Given the description of an element on the screen output the (x, y) to click on. 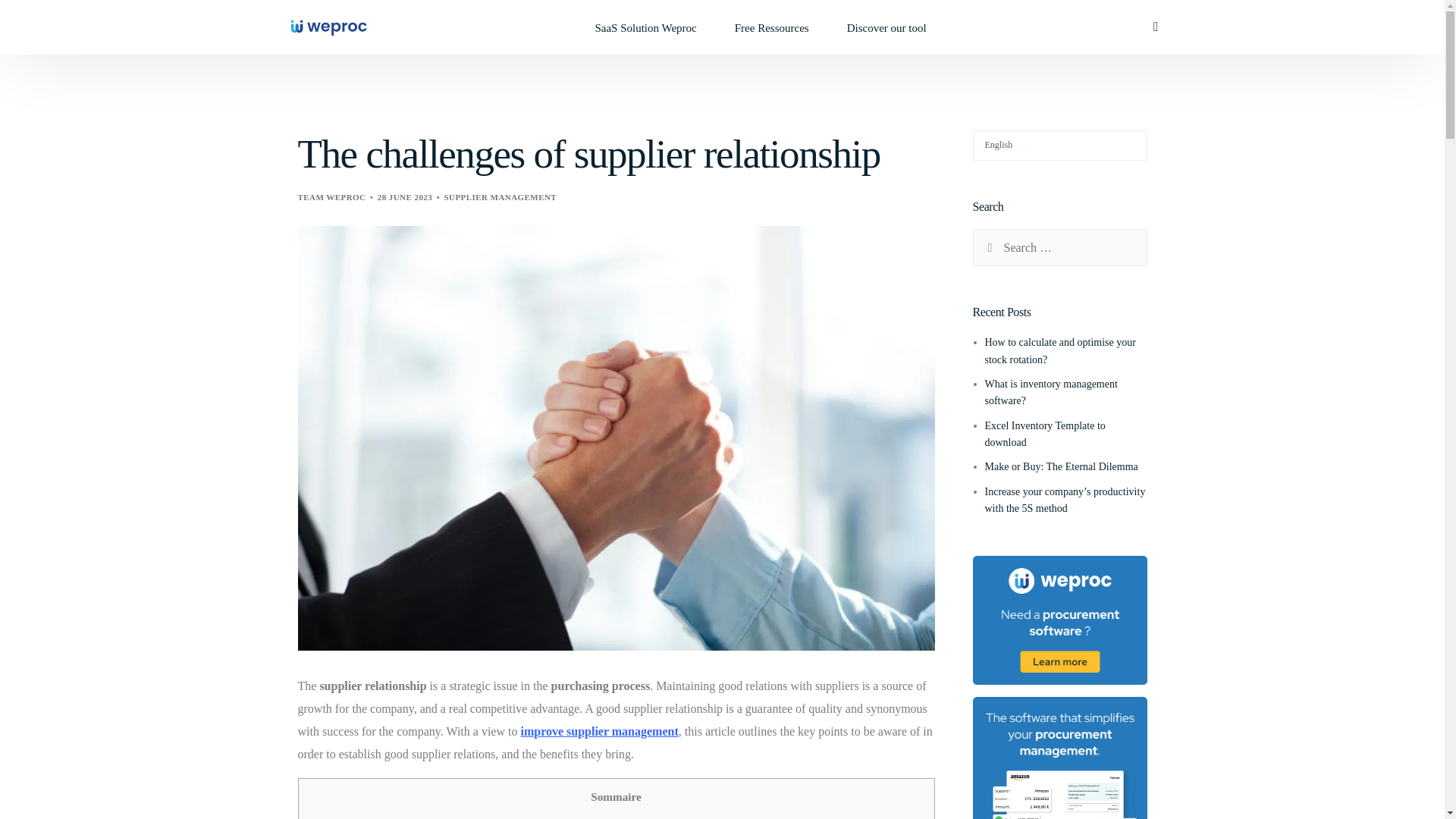
What is inventory management software? (1050, 392)
TEAM WEPROC (331, 196)
Discover our tool (886, 27)
How to calculate and optimise your stock rotation? (1059, 350)
Posts by Team Weproc (331, 196)
improve supplier management (598, 730)
SUPPLIER MANAGEMENT (500, 196)
Free Ressources (772, 27)
SaaS Solution Weproc (644, 27)
Make or Buy: The Eternal Dilemma (1060, 466)
Excel Inventory Template to download (1044, 433)
